Given the description of an element on the screen output the (x, y) to click on. 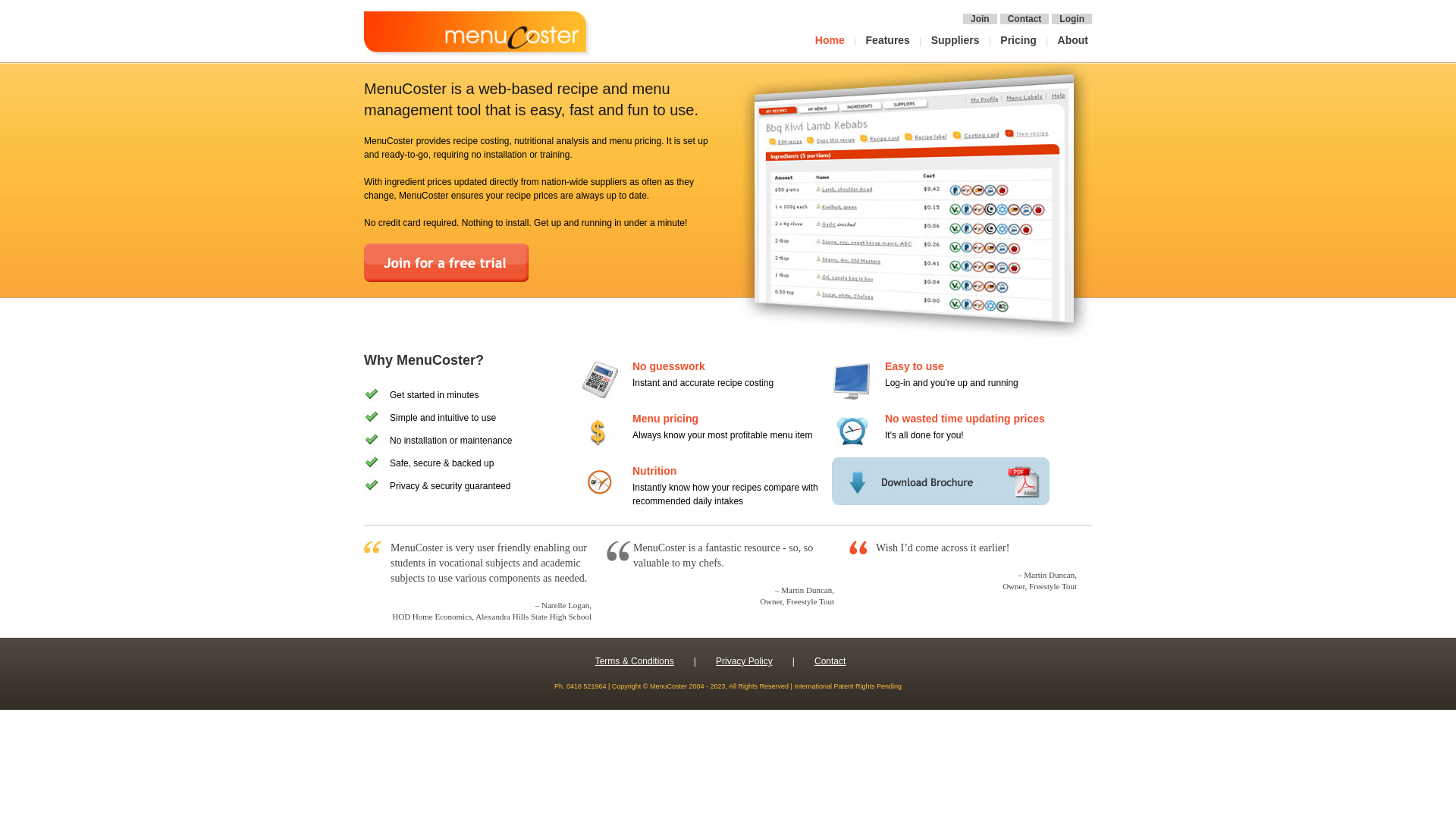
Home Element type: text (831, 40)
Contact Element type: text (829, 660)
Suppliers Element type: text (957, 40)
Terms & Conditions Element type: text (634, 660)
download pdf Element type: text (940, 481)
Features Element type: text (889, 40)
Privacy Policy Element type: text (743, 660)
About Element type: text (1074, 40)
Join for a free trial Element type: text (446, 262)
Login Element type: text (1071, 18)
Join Element type: text (980, 18)
Contact Element type: text (1024, 18)
Pricing Element type: text (1019, 40)
